Given the description of an element on the screen output the (x, y) to click on. 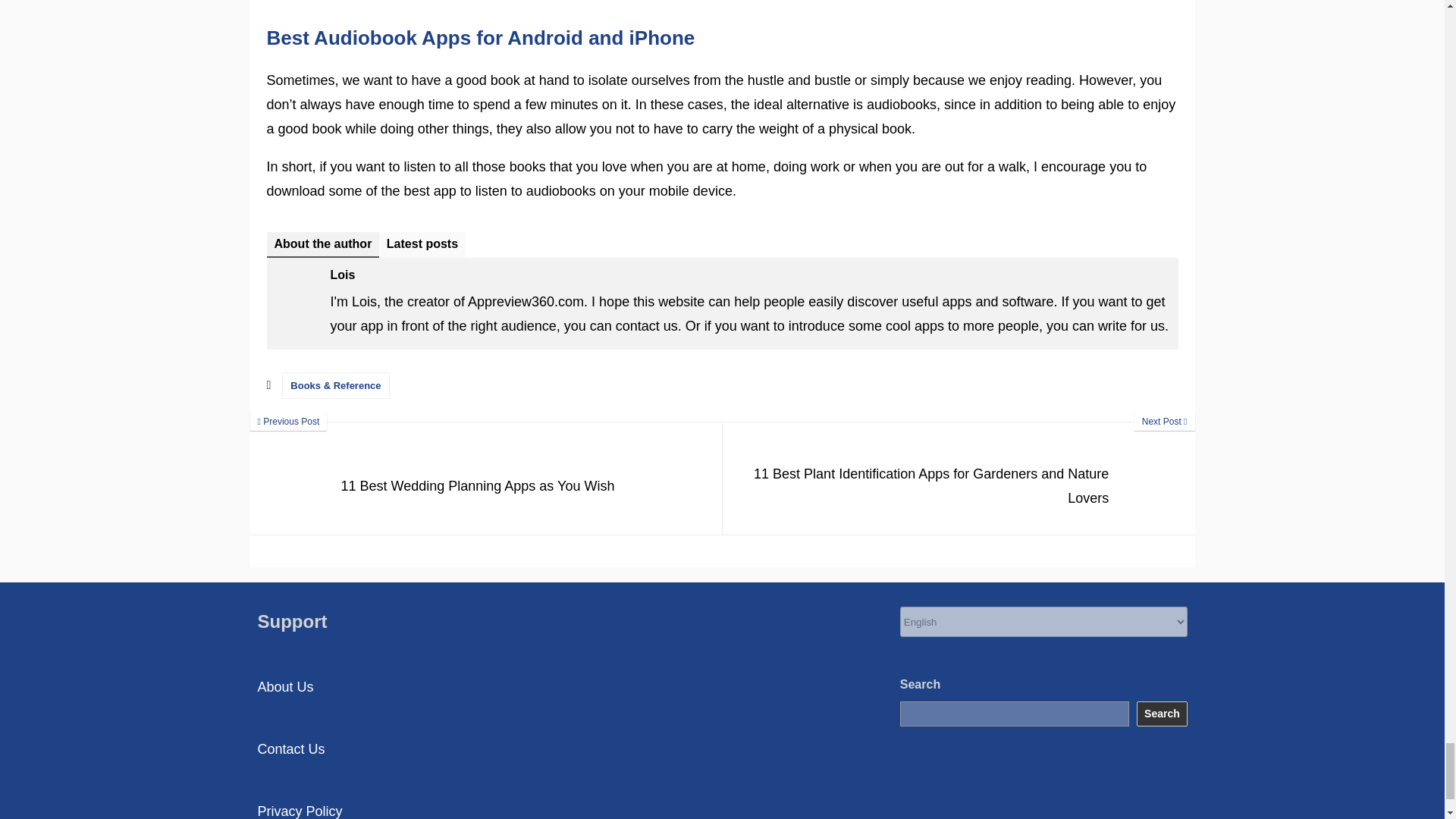
11 Best Wedding Planning Apps as You Wish (486, 478)
